Given the description of an element on the screen output the (x, y) to click on. 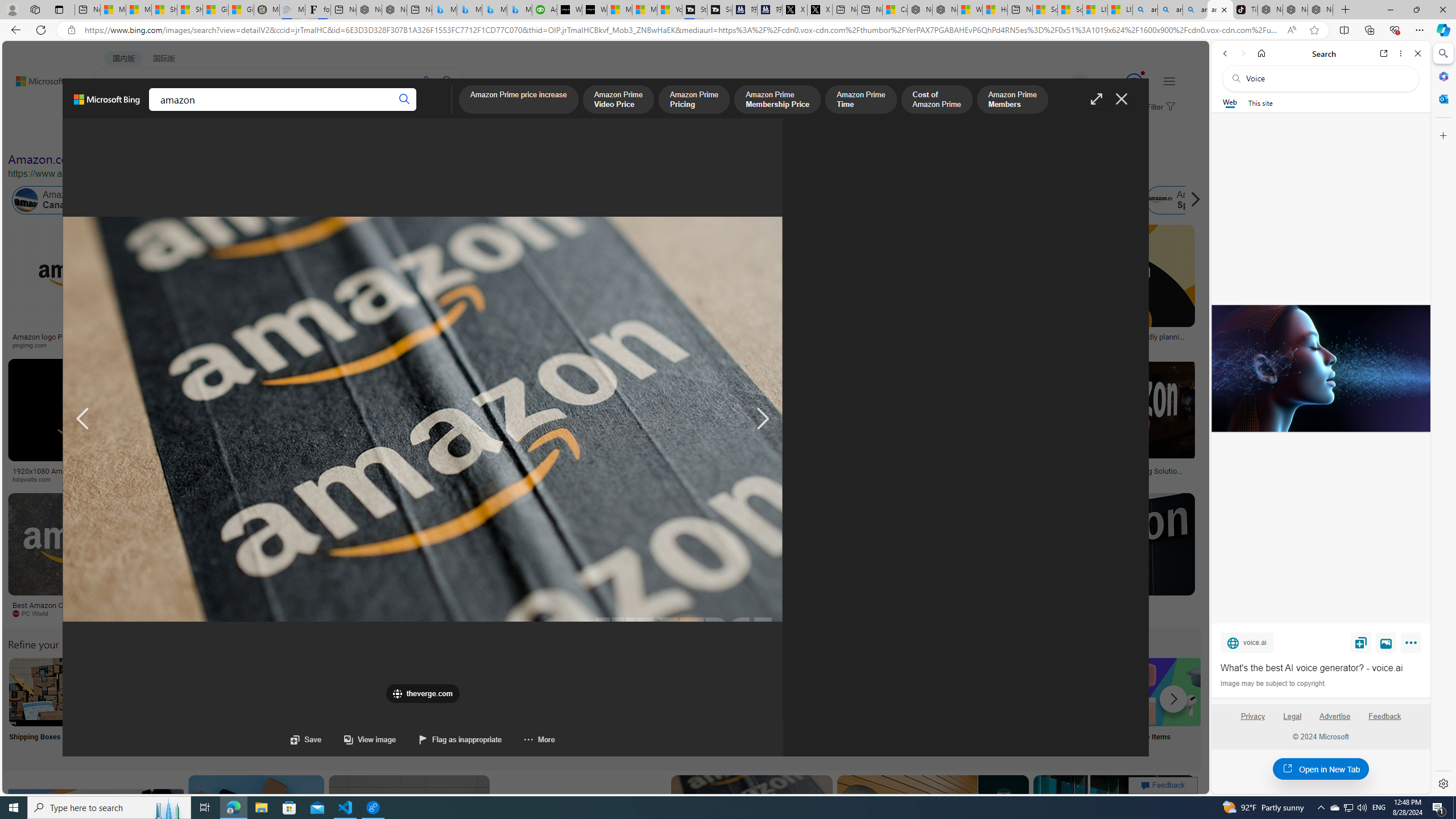
Amazon Prime Shopping Online Prime Shopping Online (944, 706)
GOBankingRates (275, 479)
Amazon Prime Membership Price (777, 100)
cordcuttersnews.com (860, 612)
Amazon Animals (401, 200)
Amazon Prime price increase (518, 100)
